Given the description of an element on the screen output the (x, y) to click on. 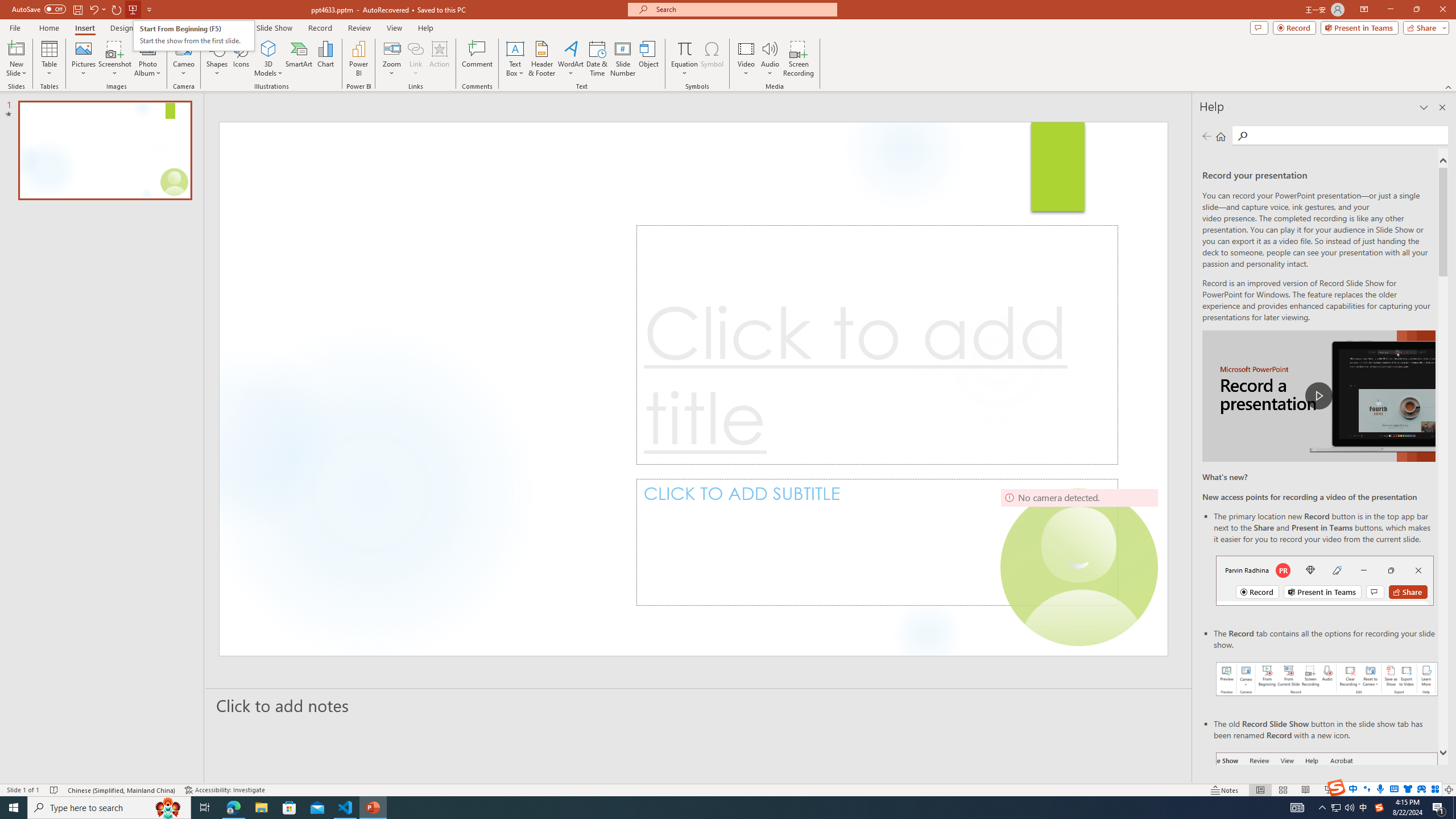
Header & Footer... (541, 58)
